Given the description of an element on the screen output the (x, y) to click on. 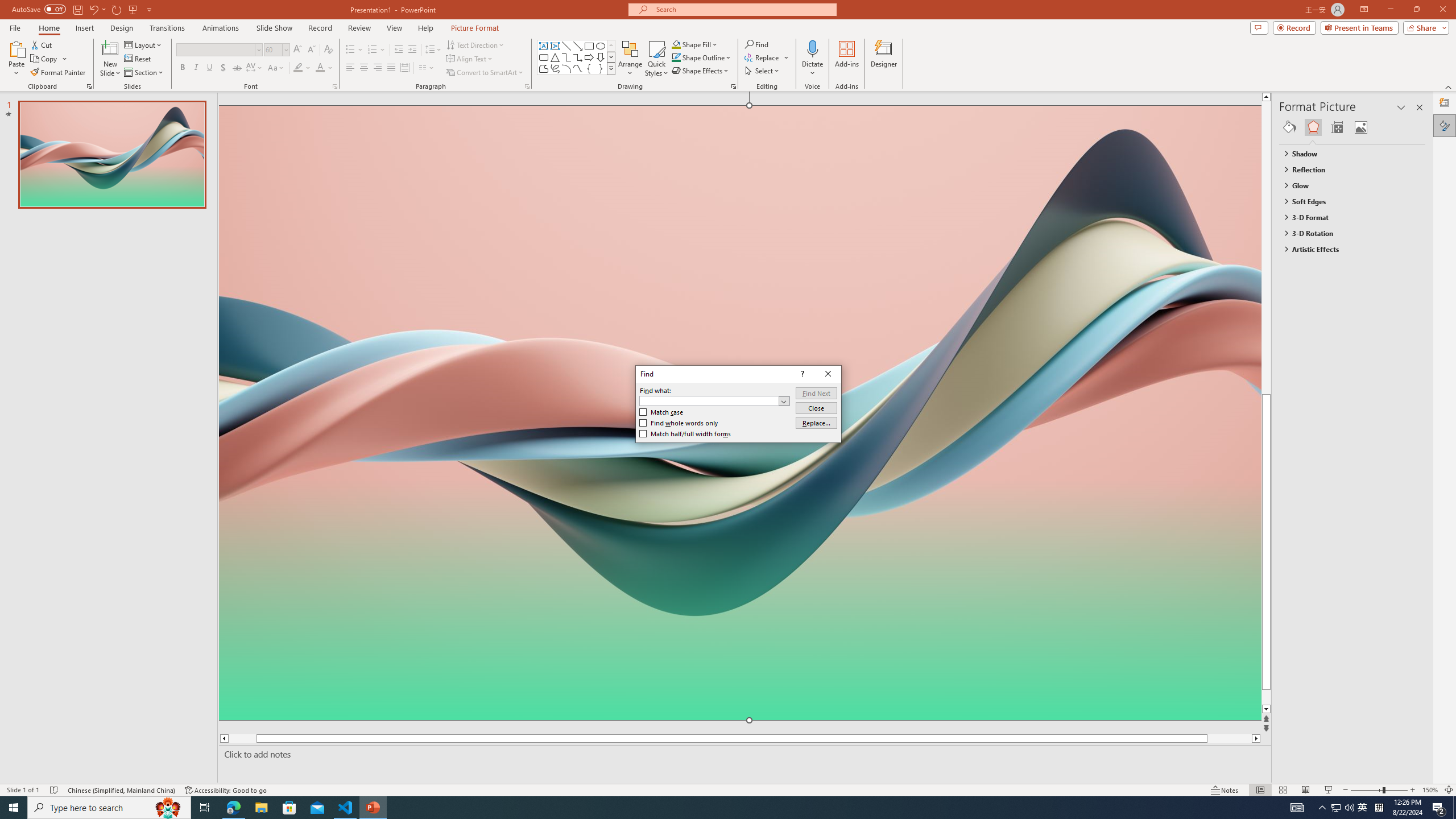
Zoom 150% (1430, 790)
Class: NetUIGalleryContainer (1352, 126)
